Given the description of an element on the screen output the (x, y) to click on. 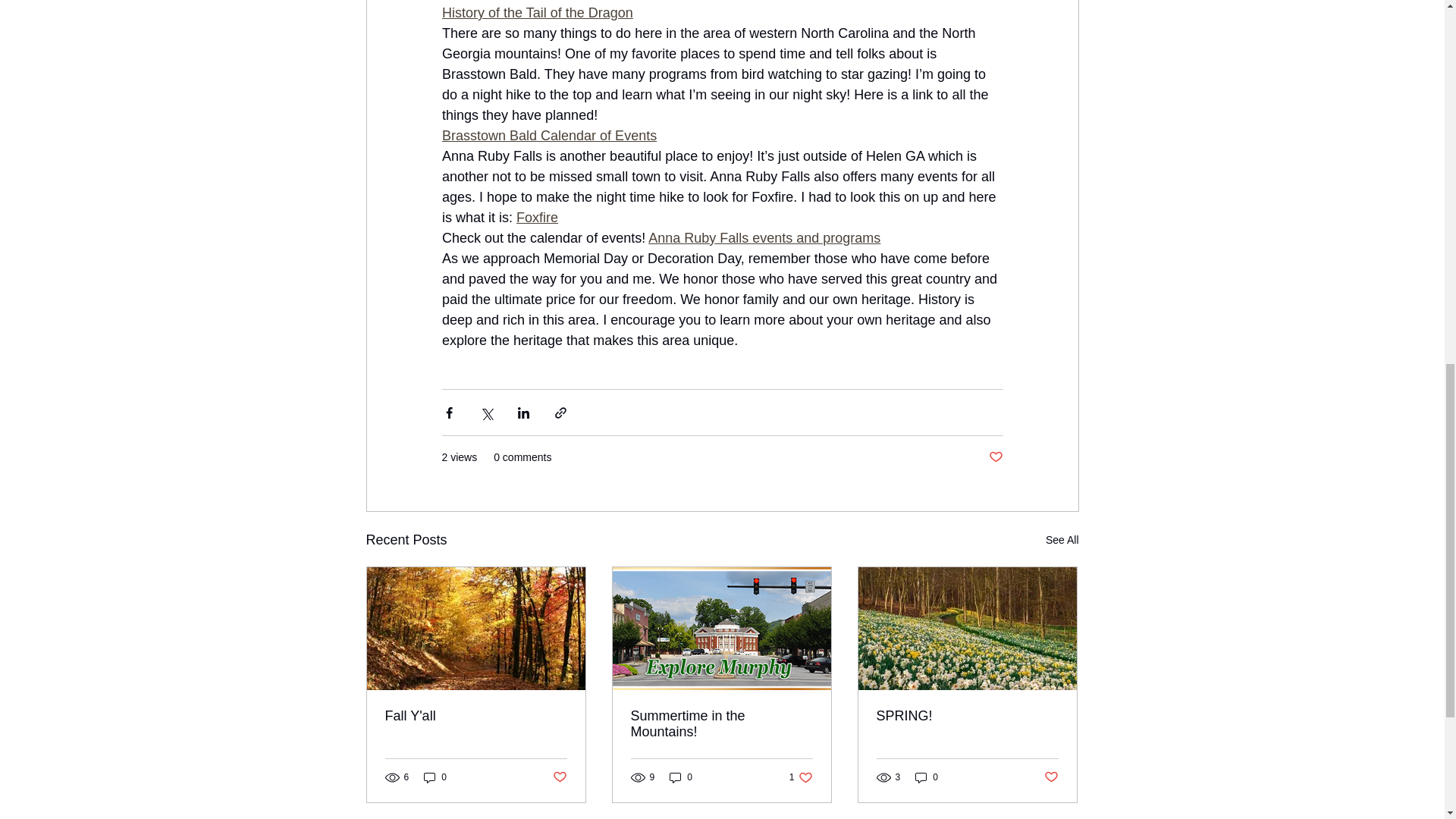
0 (800, 777)
Post not marked as liked (435, 777)
Summertime in the Mountains! (995, 457)
History of the Tail of the Dragon (721, 724)
SPRING! (536, 12)
Anna Ruby Falls events and programs (967, 715)
0 (763, 237)
Foxfire (681, 777)
Brasstown Bald Calendar of Events (536, 217)
Fall Y'all (548, 135)
Post not marked as liked (476, 715)
See All (558, 776)
